Given the description of an element on the screen output the (x, y) to click on. 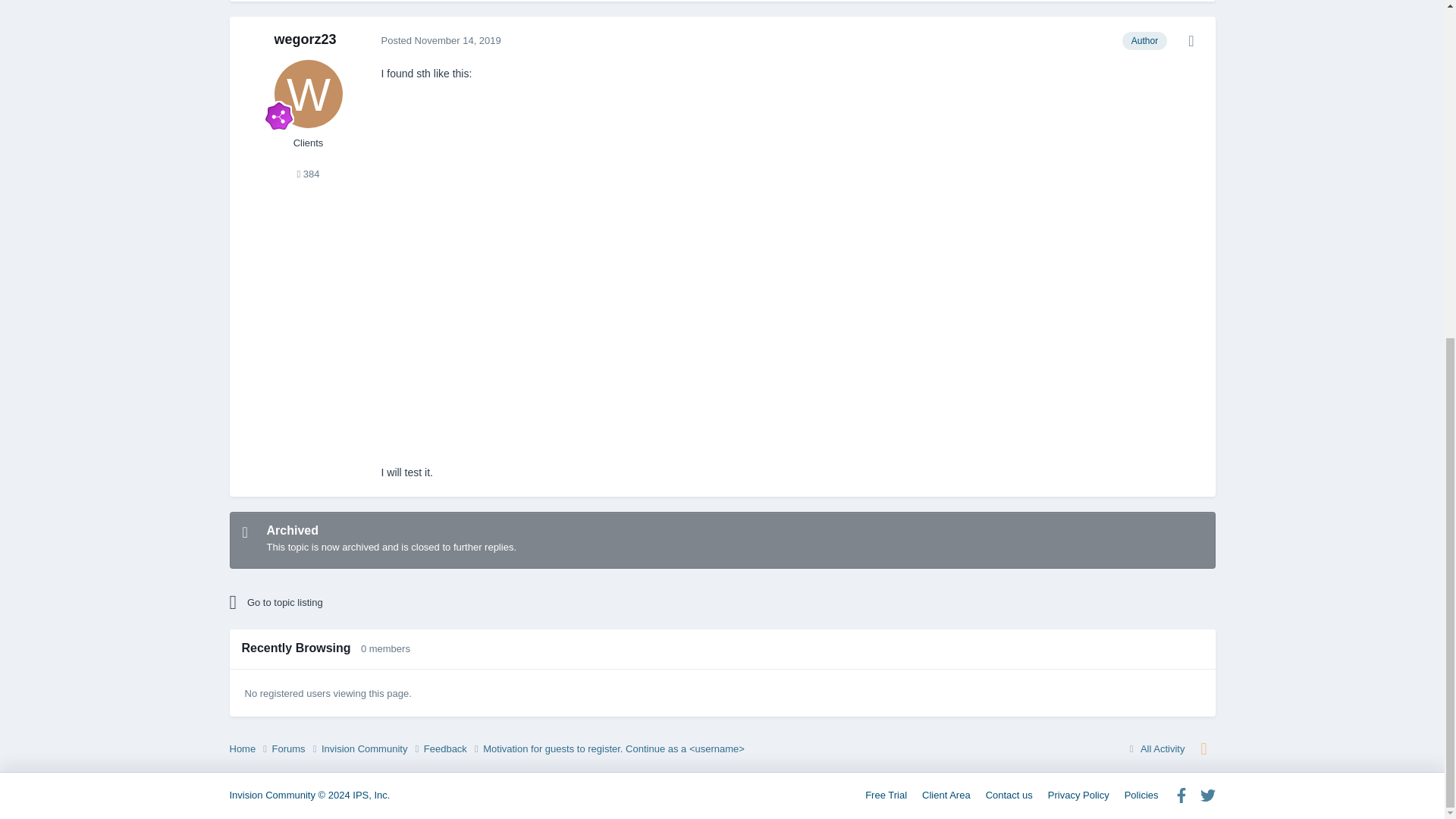
More options... (1190, 40)
Go to wegorz23's profile (304, 38)
Go to wegorz23's profile (308, 93)
384 posts (307, 173)
